Given the description of an element on the screen output the (x, y) to click on. 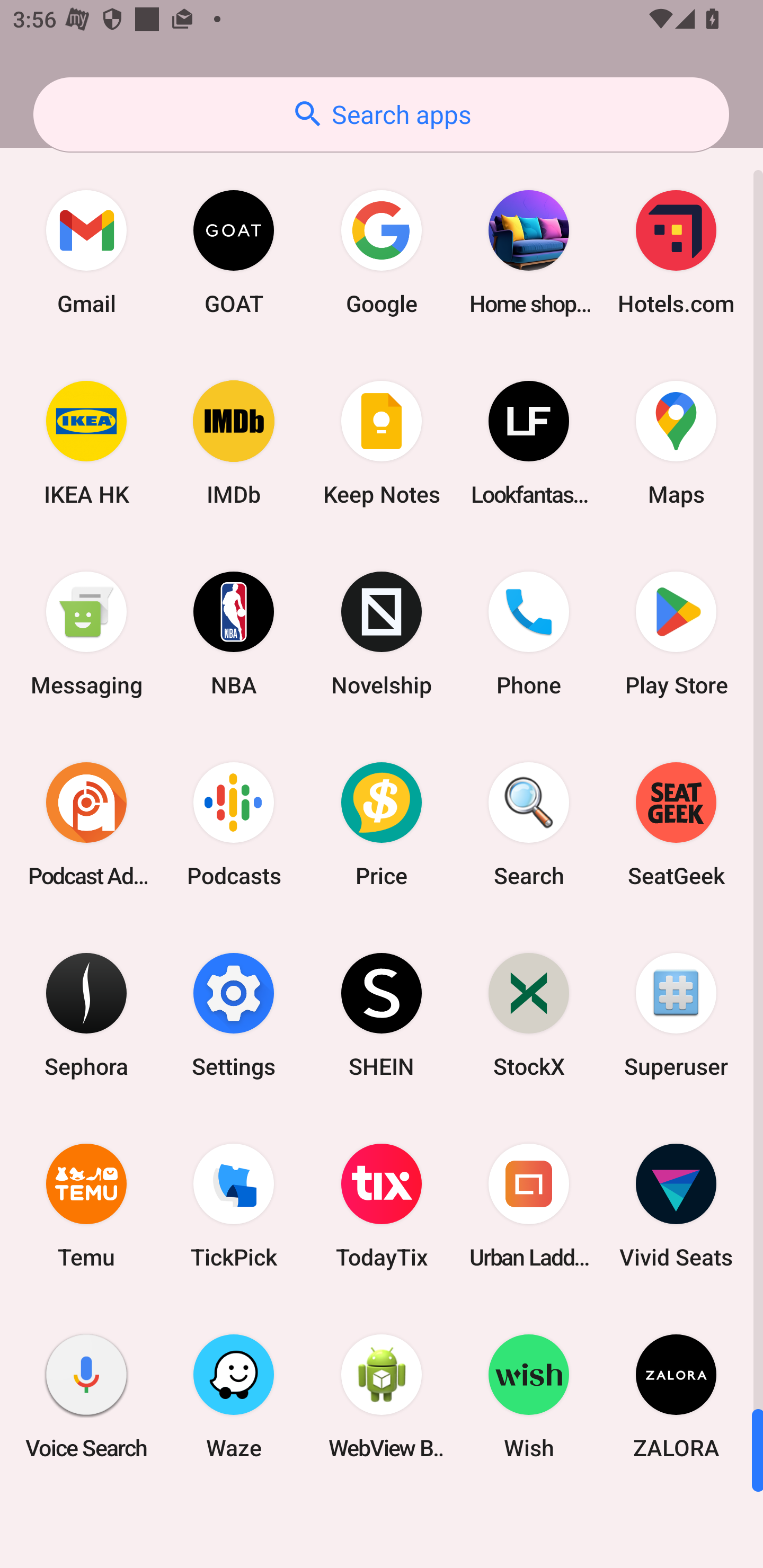
  Search apps (381, 114)
Gmail (86, 252)
GOAT (233, 252)
Google (381, 252)
Home shopping (528, 252)
Hotels.com (676, 252)
IKEA HK (86, 442)
IMDb (233, 442)
Keep Notes (381, 442)
Lookfantastic (528, 442)
Maps (676, 442)
Messaging (86, 633)
NBA (233, 633)
Novelship (381, 633)
Phone (528, 633)
Play Store (676, 633)
Podcast Addict (86, 823)
Podcasts (233, 823)
Price (381, 823)
Search (528, 823)
SeatGeek (676, 823)
Sephora (86, 1014)
Settings (233, 1014)
SHEIN (381, 1014)
StockX (528, 1014)
Superuser (676, 1014)
Temu (86, 1205)
TickPick (233, 1205)
TodayTix (381, 1205)
Urban Ladder (528, 1205)
Vivid Seats (676, 1205)
Voice Search (86, 1396)
Waze (233, 1396)
WebView Browser Tester (381, 1396)
Wish (528, 1396)
ZALORA (676, 1396)
